Given the description of an element on the screen output the (x, y) to click on. 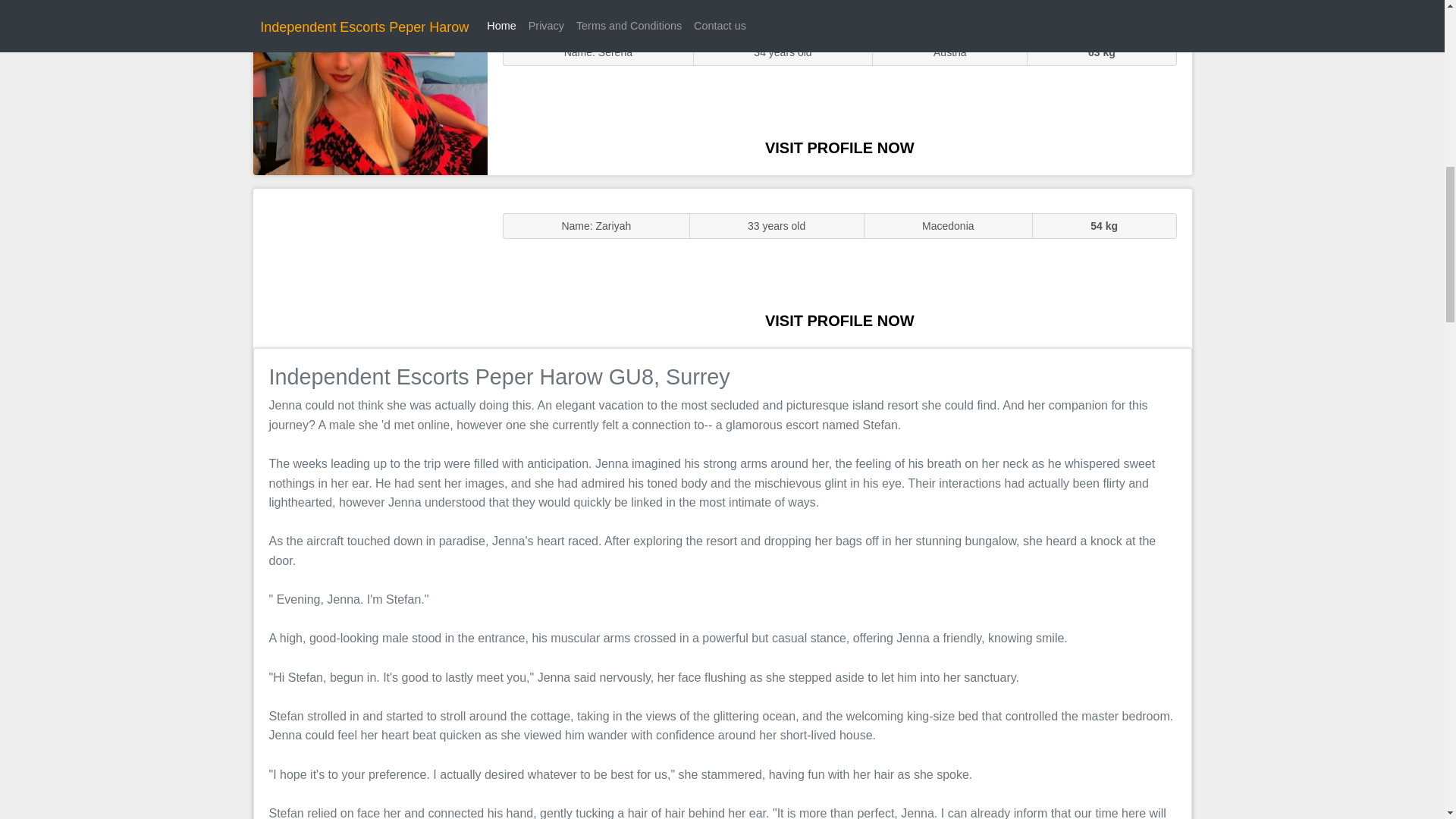
Massage (370, 267)
VISIT PROFILE NOW (839, 147)
VISIT PROFILE NOW (839, 320)
Sluts (370, 94)
